Given the description of an element on the screen output the (x, y) to click on. 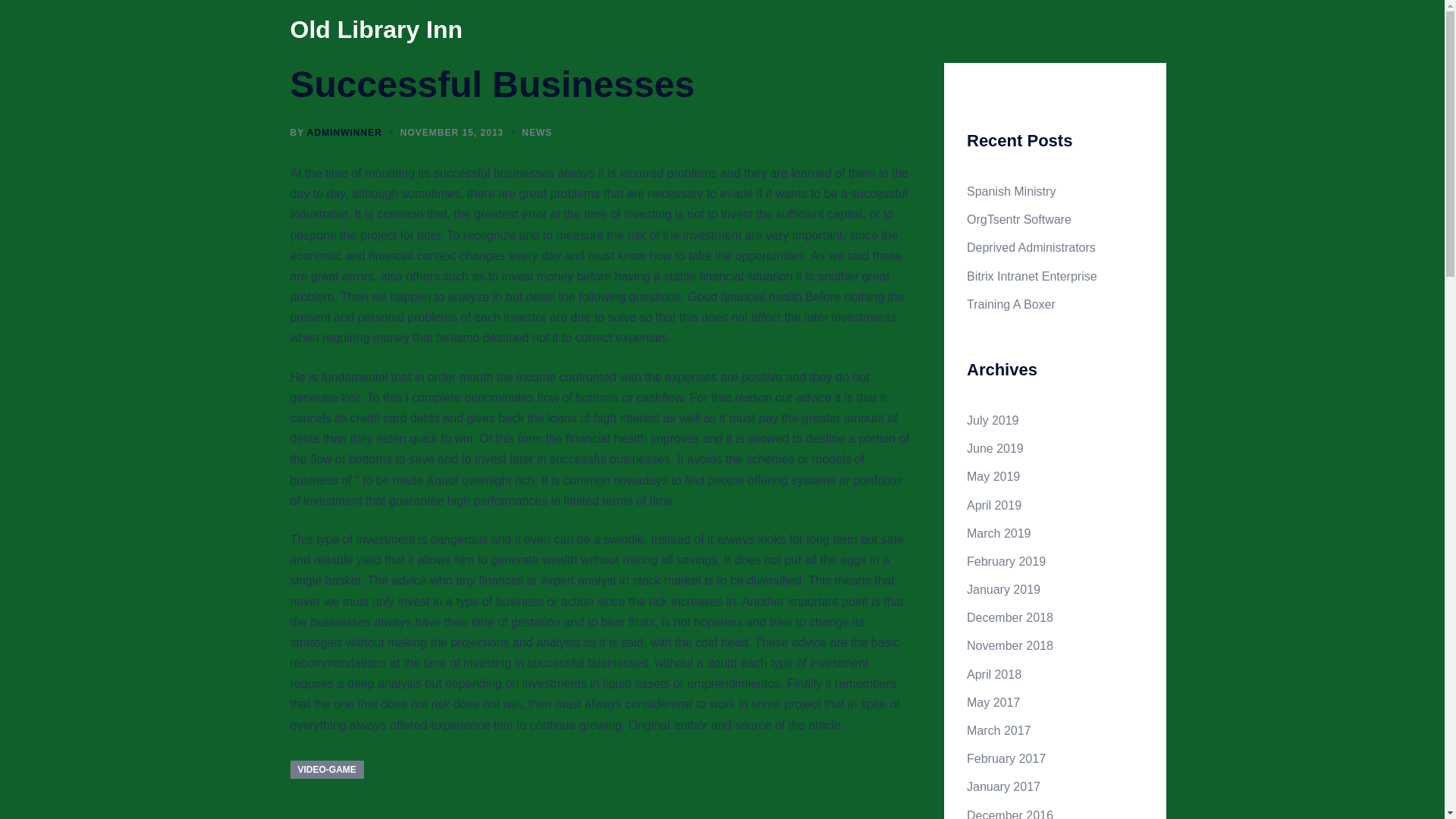
March 2017 (998, 730)
Training A Boxer (1010, 304)
December 2016 (1009, 814)
Bitrix Intranet Enterprise (1031, 276)
January 2019 (1003, 589)
November 2018 (1009, 645)
June 2019 (994, 448)
OrgTsentr Software (1018, 219)
April 2019 (994, 504)
ADMINWINNER (344, 132)
February 2019 (1005, 561)
April 2018 (994, 674)
NOVEMBER 15, 2013 (451, 132)
Spanish Ministry (1010, 191)
July 2019 (992, 420)
